Given the description of an element on the screen output the (x, y) to click on. 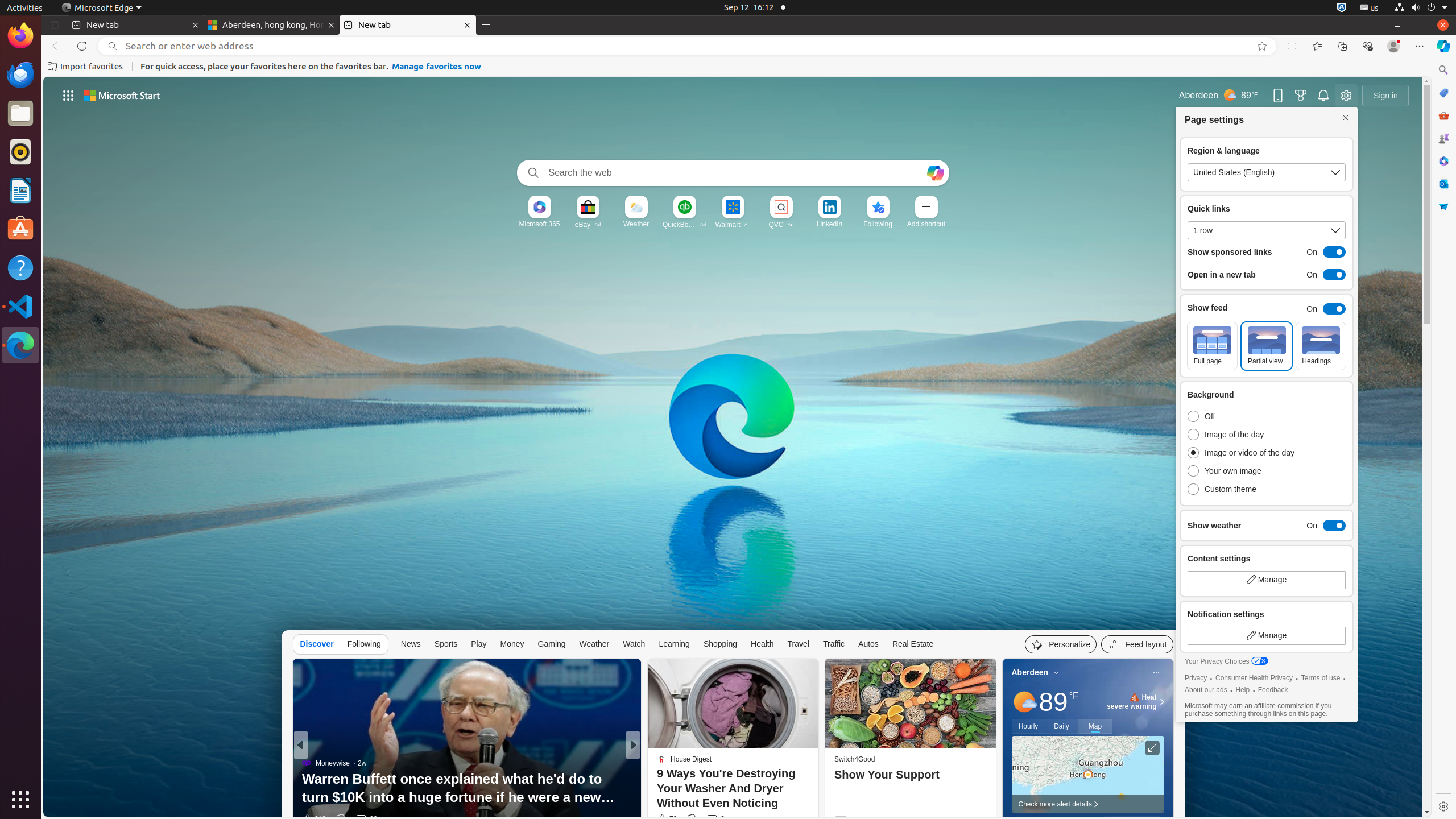
On Element type: toggle-button (1322, 308)
Learning Element type: link (674, 643)
Split screen Element type: push-button (1291, 45)
Shopping Element type: link (719, 643)
Collections Element type: push-button (1341, 45)
